Given the description of an element on the screen output the (x, y) to click on. 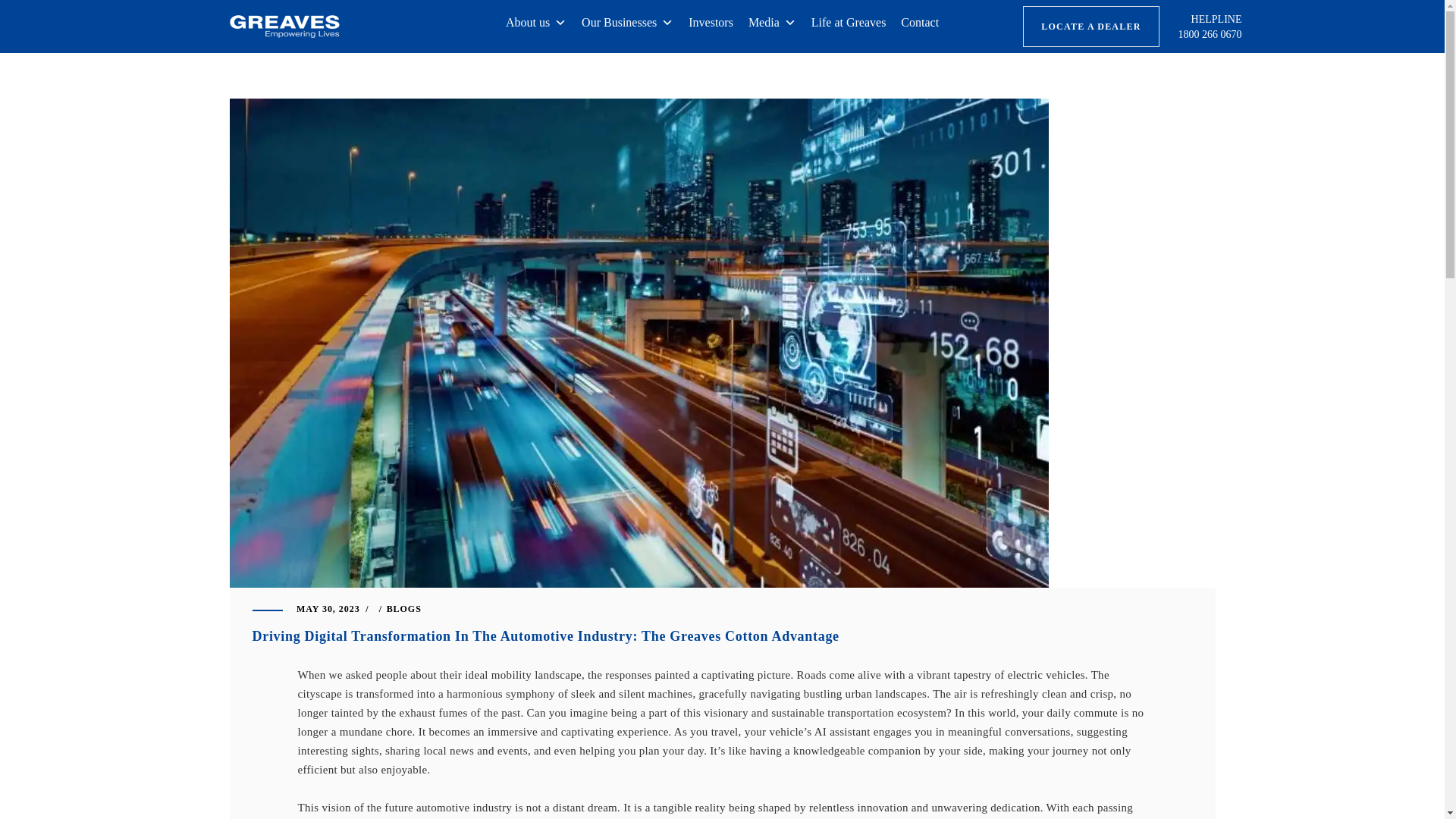
Our Businesses (627, 28)
Investors (711, 28)
About us (535, 28)
Media (772, 28)
